Given the description of an element on the screen output the (x, y) to click on. 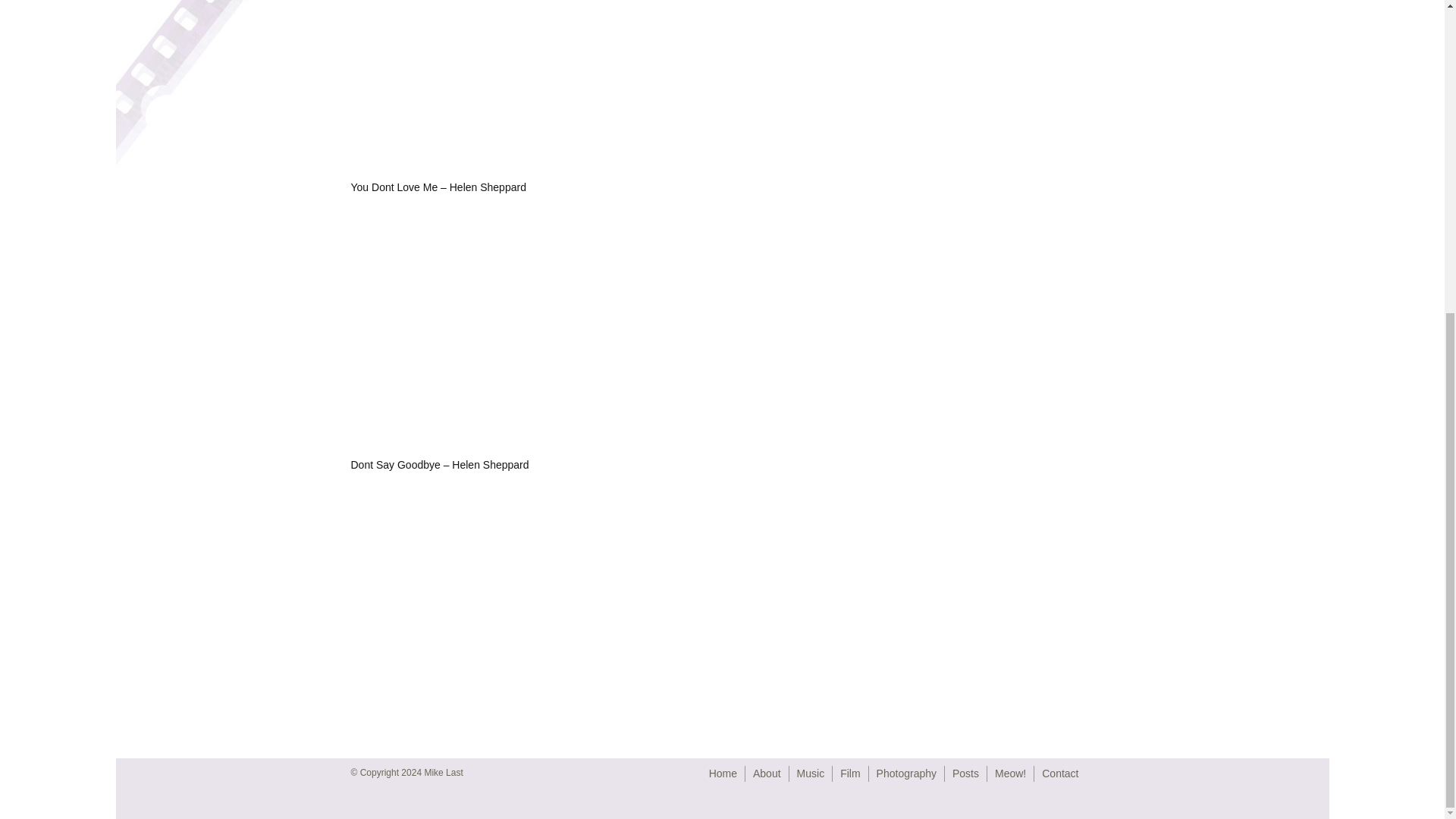
Photography (906, 773)
Posts (965, 773)
Home (722, 773)
Film (850, 773)
Contact (1060, 773)
Meow! (1010, 773)
About (766, 773)
Music (810, 773)
